Given the description of an element on the screen output the (x, y) to click on. 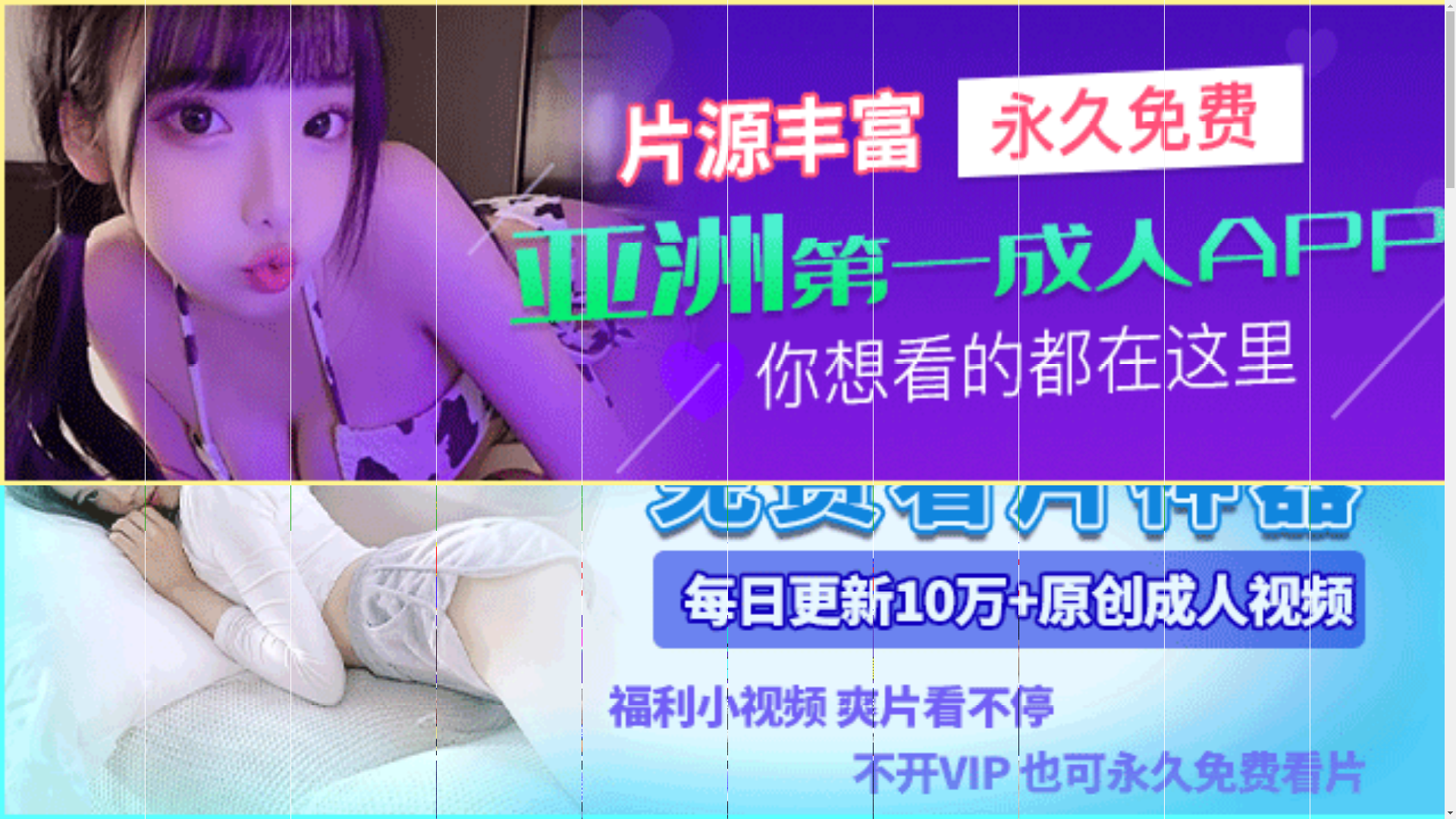
www.xmkk5.com Element type: text (693, 515)
17xqw.Com Element type: text (411, 503)
